Given the description of an element on the screen output the (x, y) to click on. 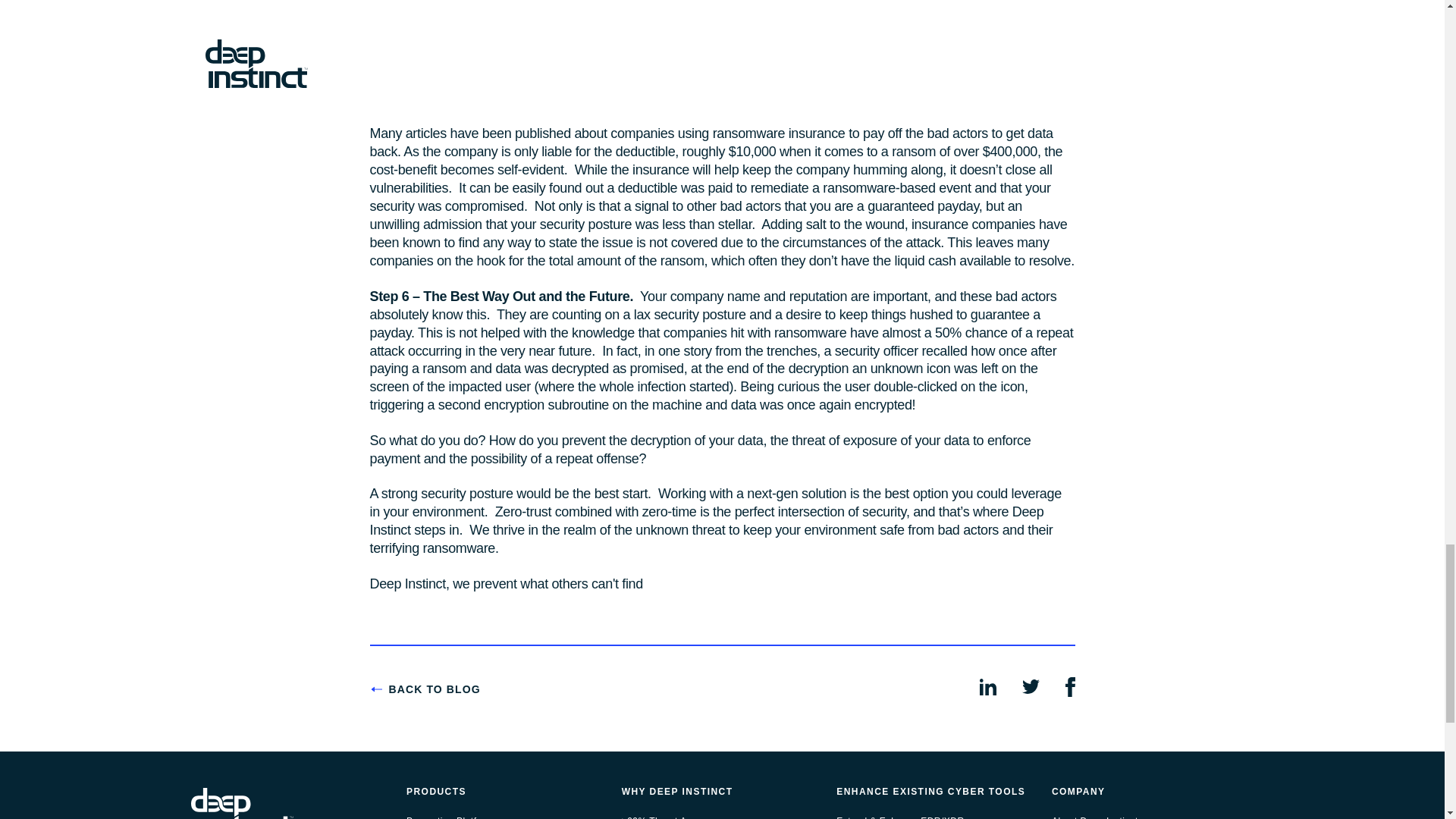
BACK TO BLOG (424, 689)
ransomware insurance (553, 98)
Prevention Platform (449, 817)
